Given the description of an element on the screen output the (x, y) to click on. 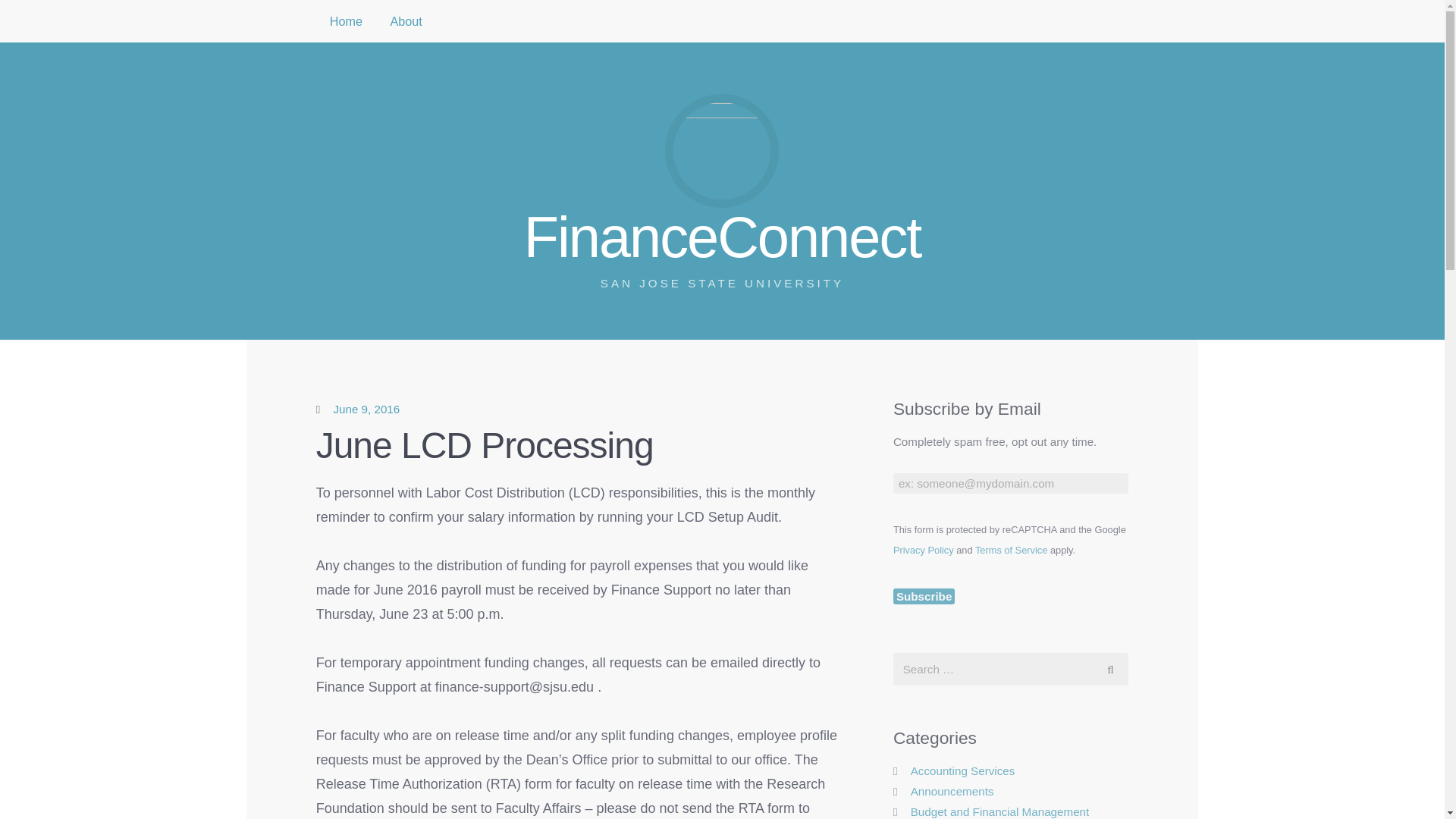
Search (1110, 668)
Accounting Services (962, 770)
Budget and Financial Management (1000, 811)
Privacy Policy (1010, 550)
Subscribe (923, 550)
Permalink to June LCD Processing (924, 596)
Home (365, 408)
Search (346, 21)
